Given the description of an element on the screen output the (x, y) to click on. 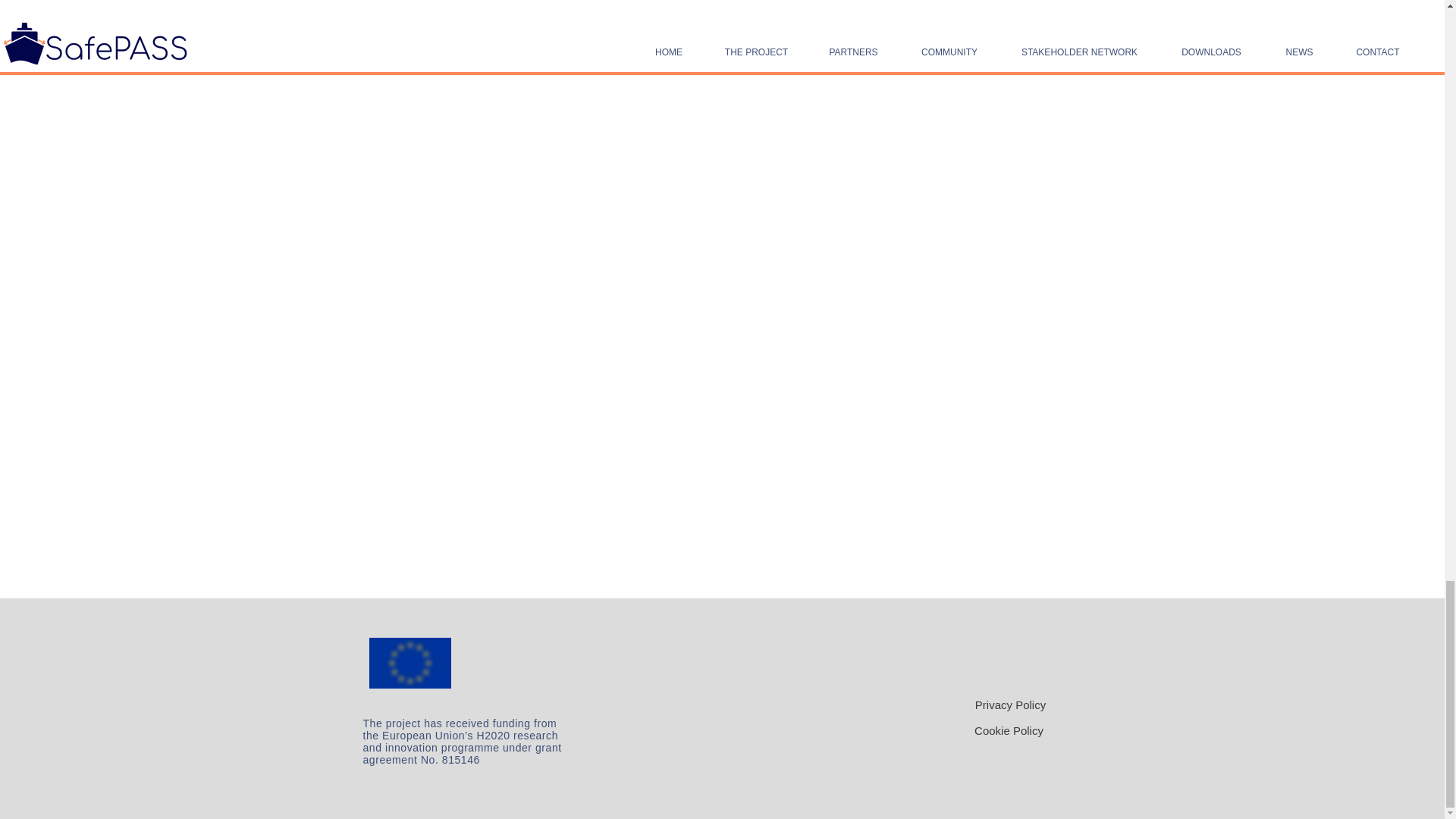
Privacy Policy (1010, 704)
Cookie Policy (1008, 729)
